Given the description of an element on the screen output the (x, y) to click on. 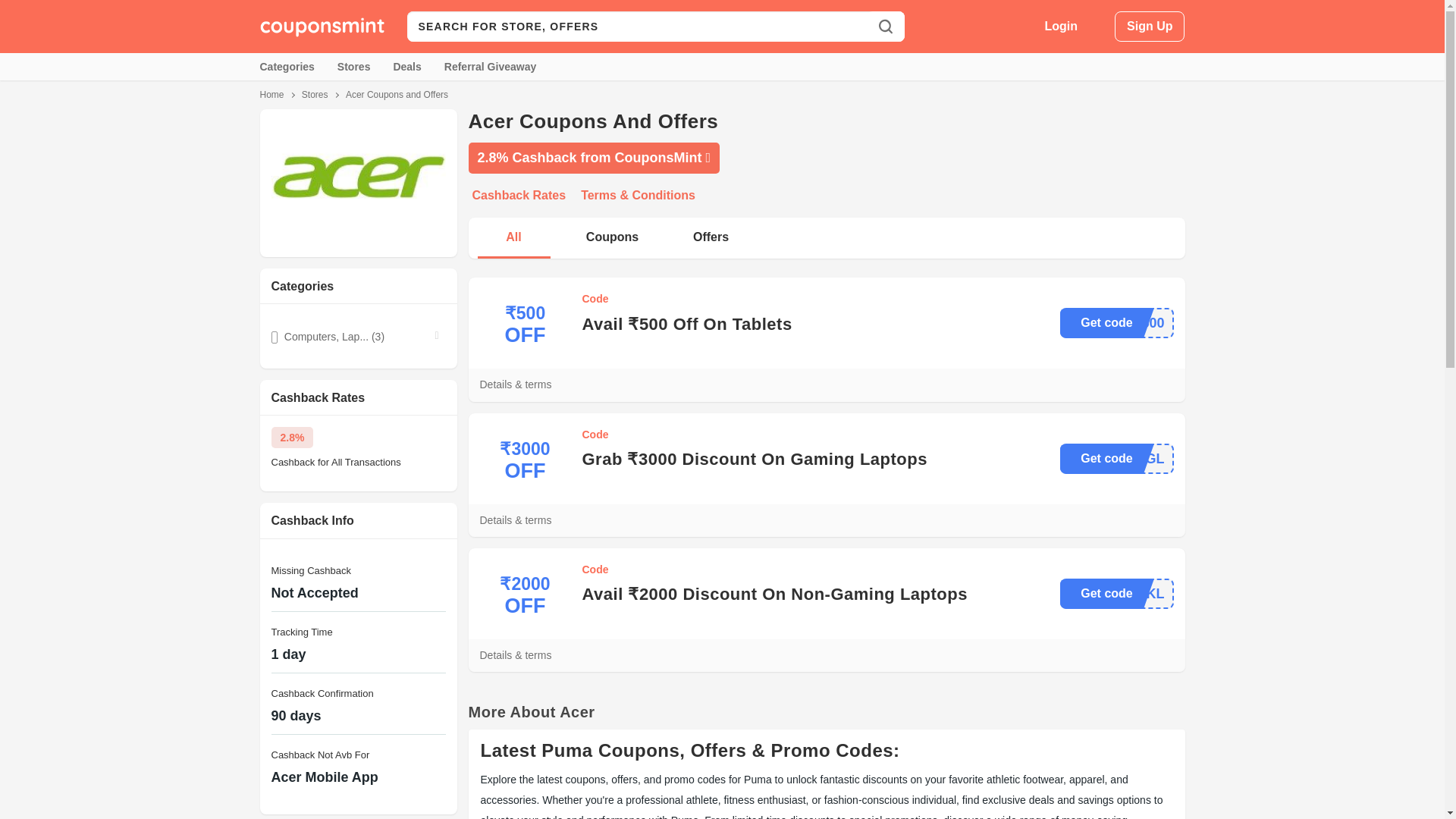
All (513, 237)
Deals (406, 66)
Coupons (612, 237)
Stores (354, 66)
Home (271, 94)
Login (1061, 25)
Offers (711, 237)
Sign Up (1150, 26)
Referral Giveaway (489, 66)
Categories (286, 66)
Stores (315, 94)
